Given the description of an element on the screen output the (x, y) to click on. 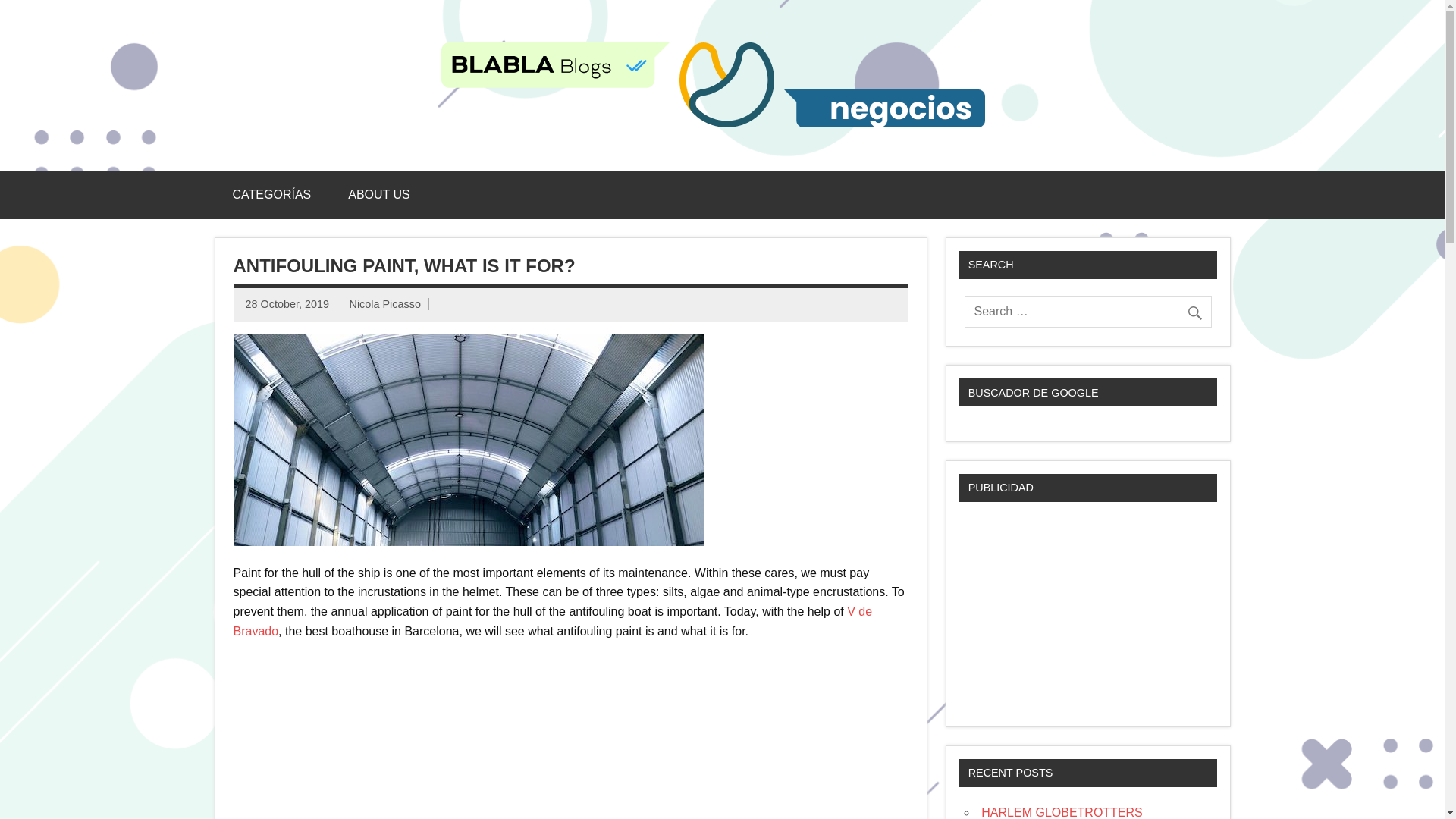
2:06 pm (287, 304)
View all posts by Nicola Picasso (384, 304)
Advertisement (1087, 613)
Advertisement (570, 734)
